Given the description of an element on the screen output the (x, y) to click on. 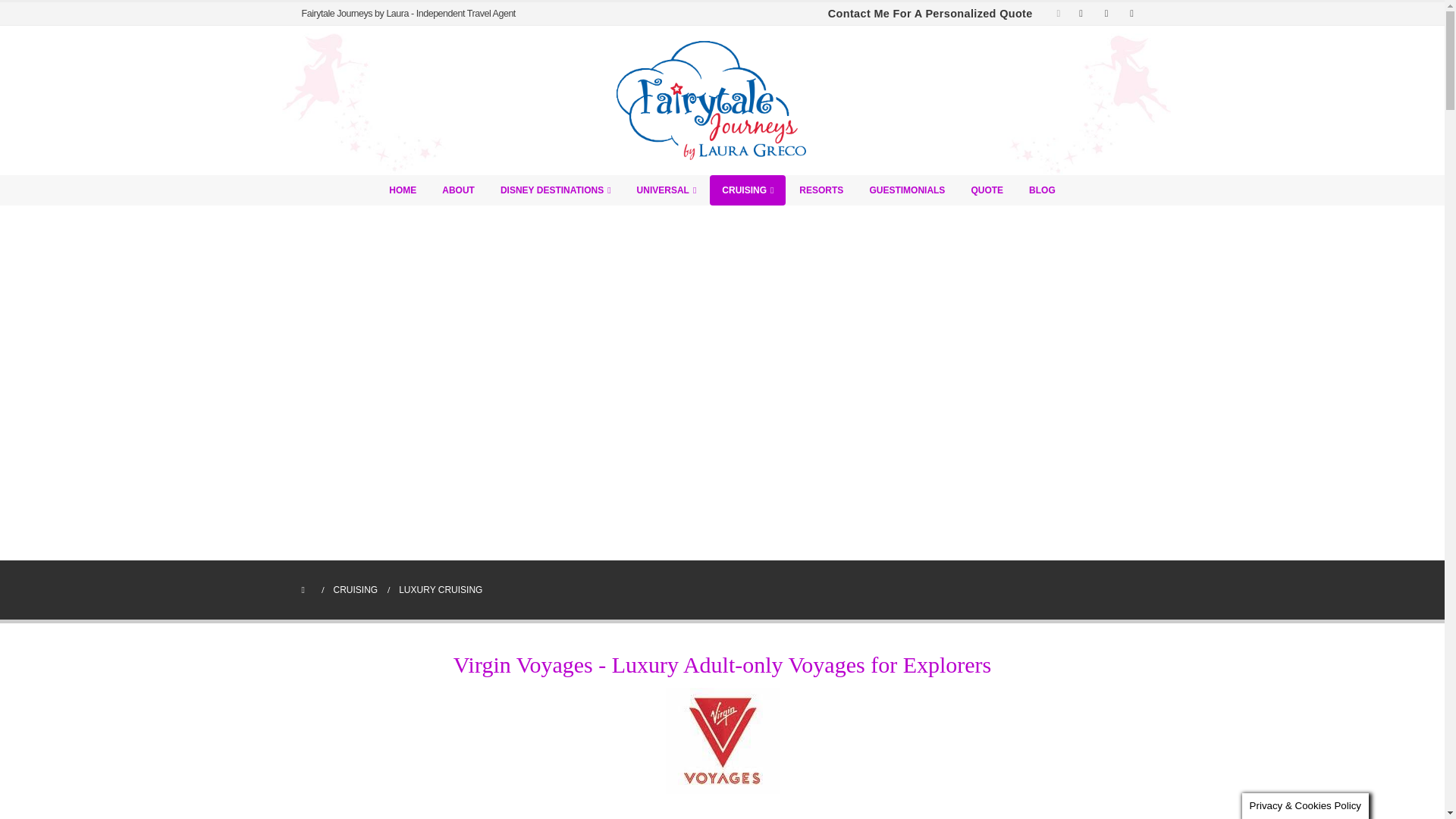
Twitter (1106, 13)
ABOUT (457, 190)
Instagram (1131, 13)
HOME (402, 190)
Facebook (1081, 13)
logo (721, 740)
DISNEY DESTINATIONS (555, 190)
Contact Me For A Personalized Quote (930, 13)
